Given the description of an element on the screen output the (x, y) to click on. 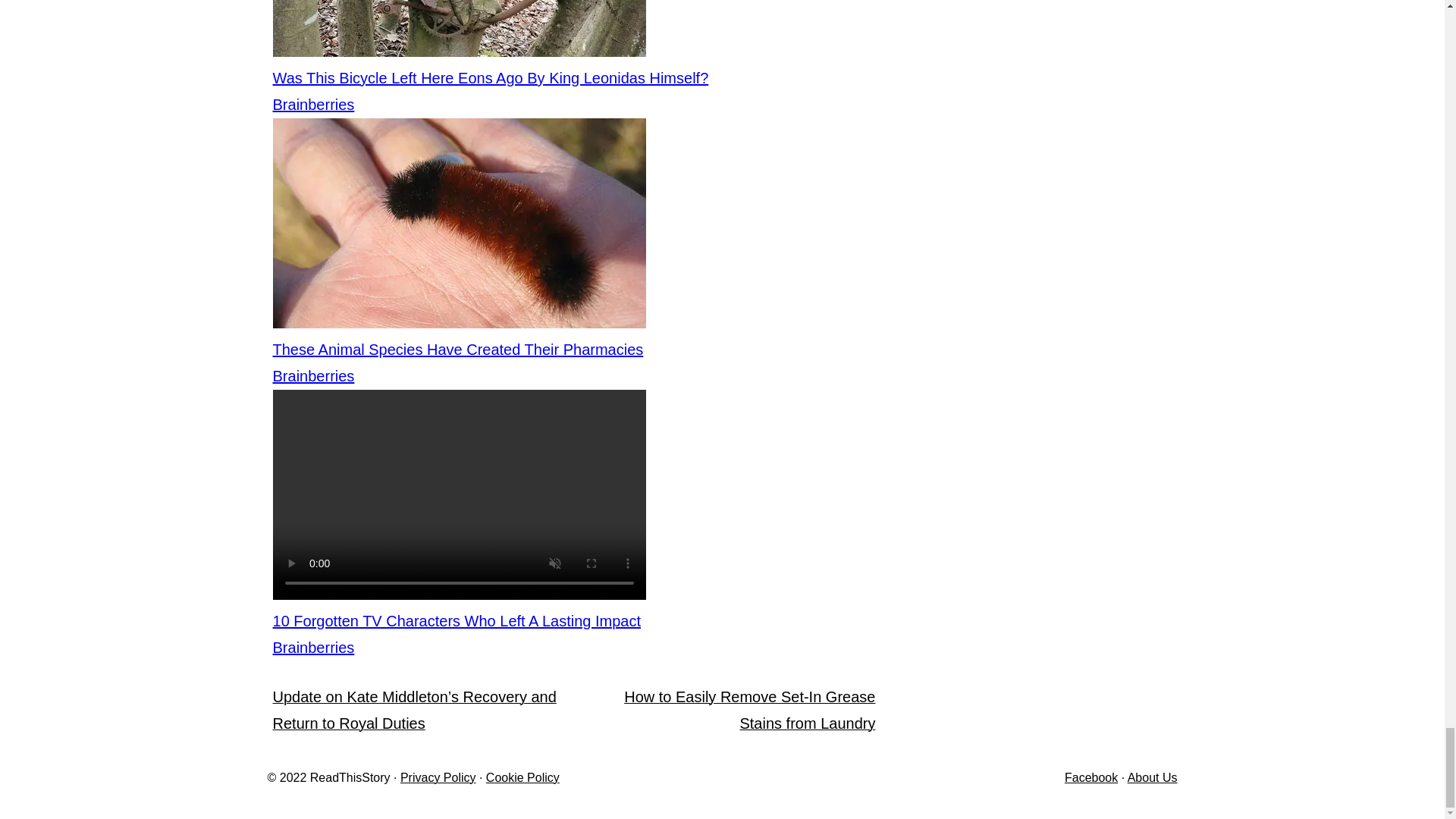
Facebook (1091, 777)
Privacy Policy (438, 777)
How to Easily Remove Set-In Grease Stains from Laundry (749, 710)
About Us (1151, 777)
Cookie Policy (522, 777)
